Given the description of an element on the screen output the (x, y) to click on. 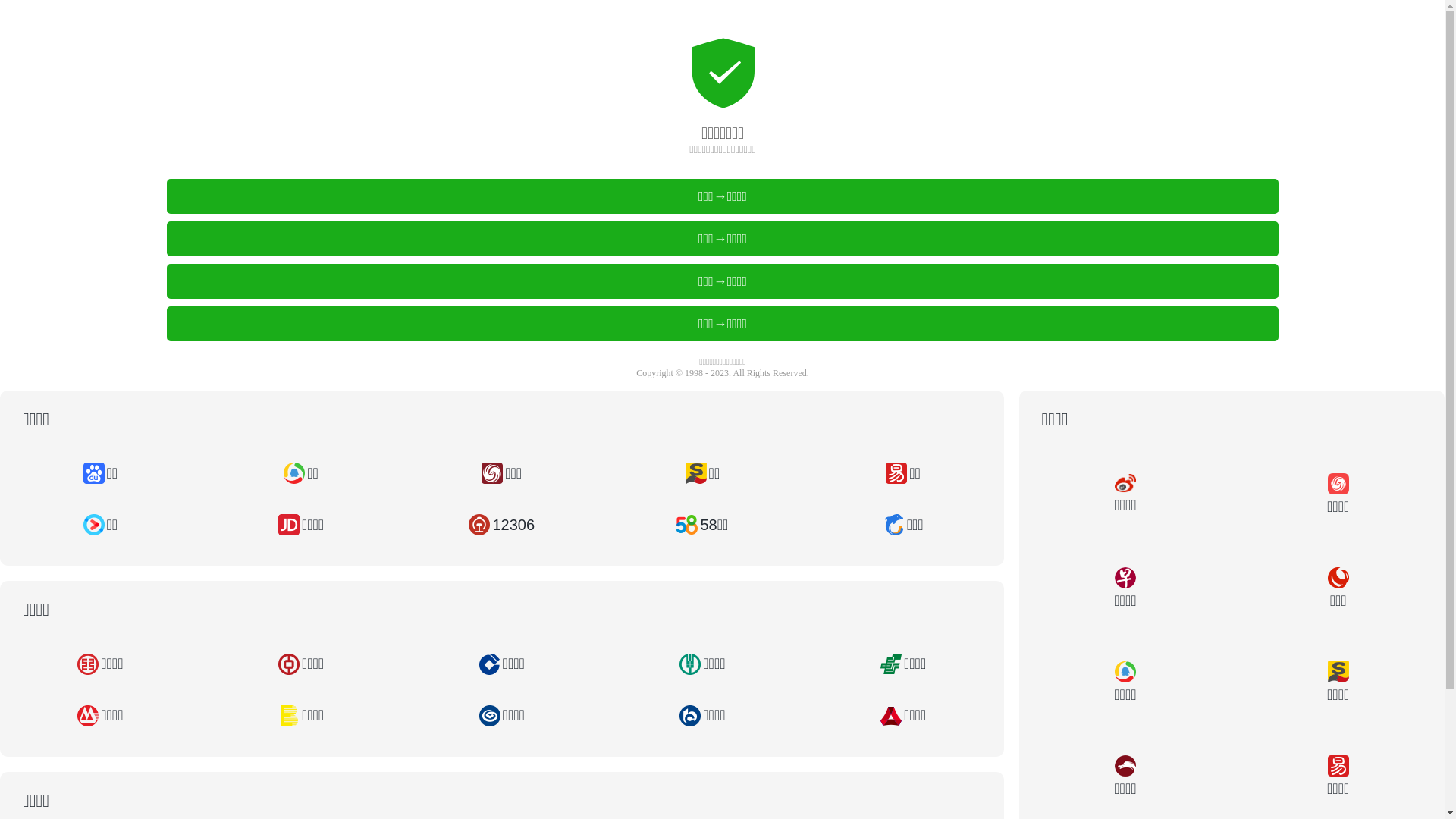
12306 Element type: text (501, 524)
